Given the description of an element on the screen output the (x, y) to click on. 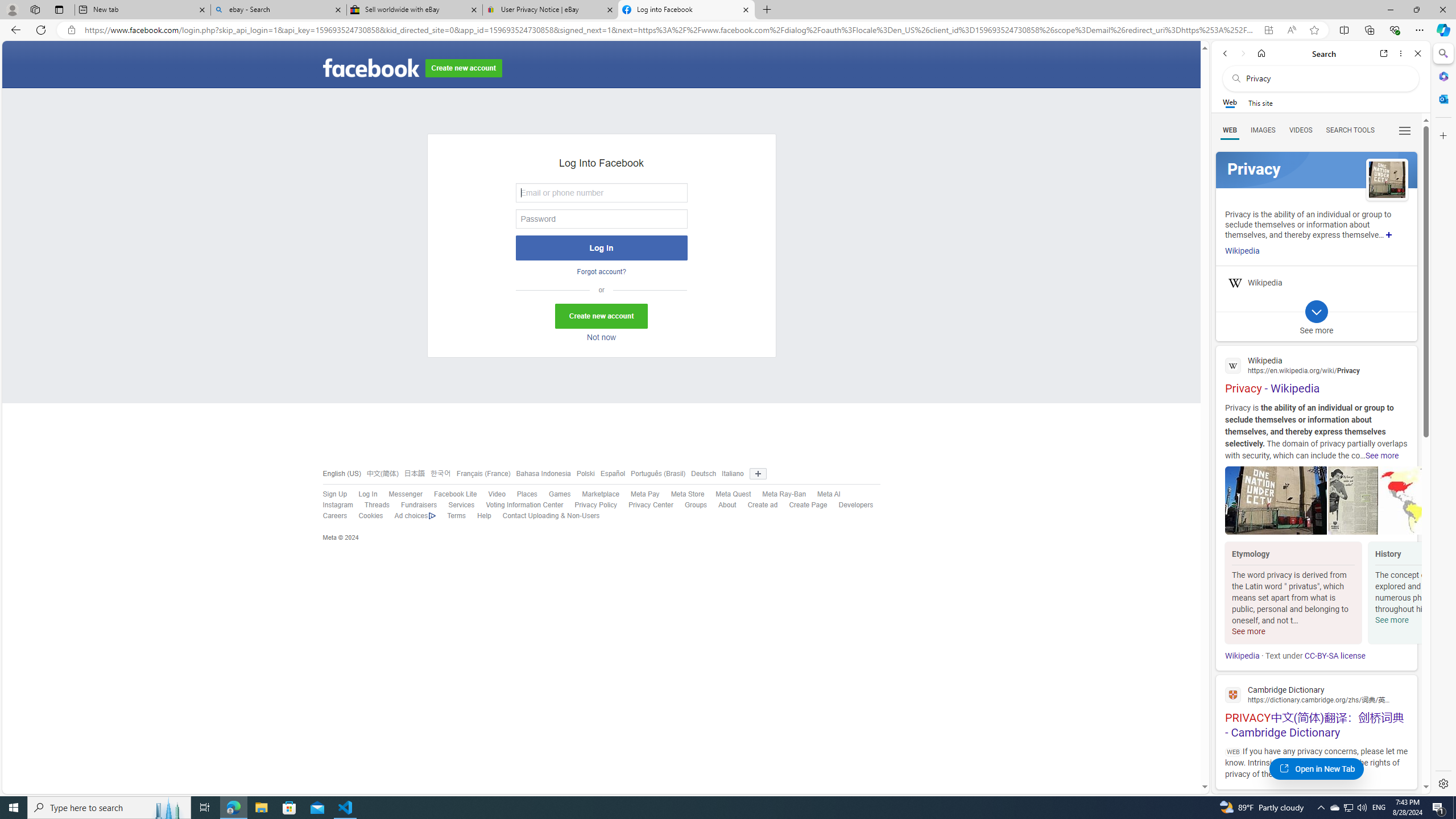
App available. Install Facebook (1268, 29)
Help (484, 515)
Messenger (405, 493)
Cambridge Dictionary (1315, 693)
Services (455, 505)
Games (559, 493)
Forward (1242, 53)
